Given the description of an element on the screen output the (x, y) to click on. 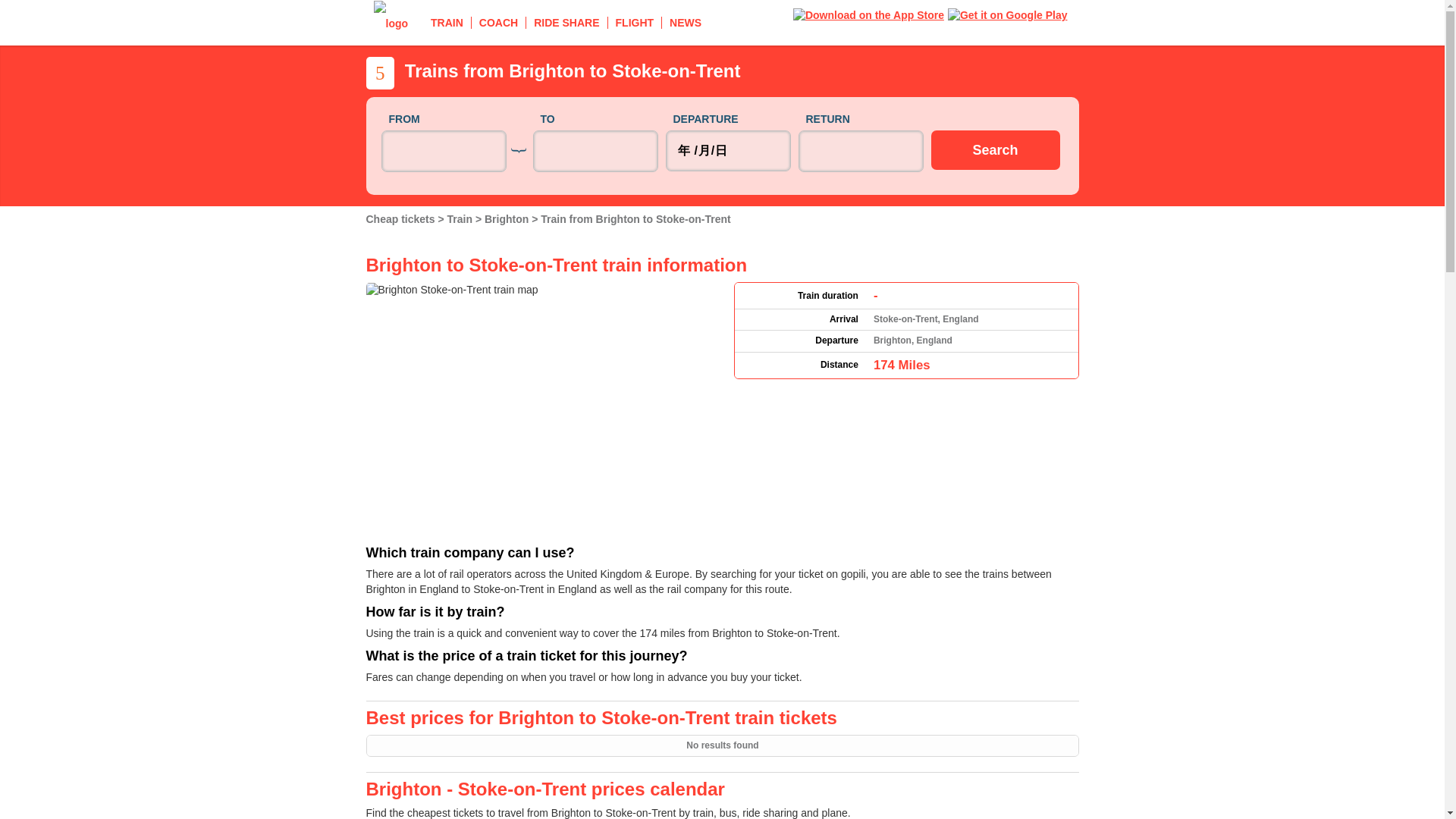
RIDE SHARE (566, 22)
Train from Brighton to Stoke-on-Trent (635, 218)
Train (461, 218)
COACH (498, 22)
Search (995, 149)
FLIGHT (635, 22)
Brighton (507, 218)
Cheap tickets (401, 218)
TRAIN (447, 22)
NEWS (685, 22)
